Given the description of an element on the screen output the (x, y) to click on. 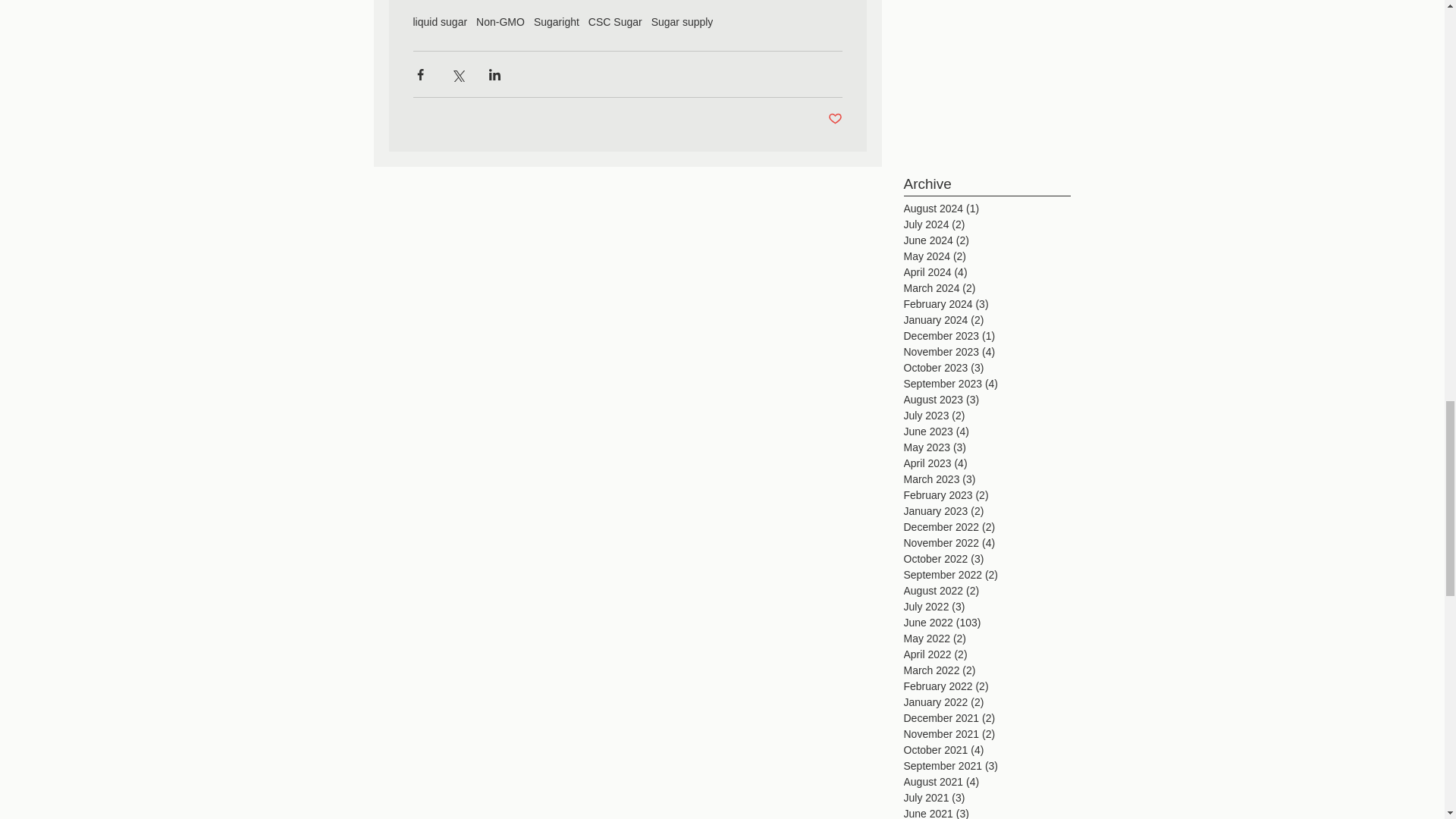
Post not marked as liked (835, 119)
liquid sugar (439, 21)
Non-GMO (500, 21)
Sugar supply (681, 21)
Sugaright (556, 21)
CSC Sugar (615, 21)
